Given the description of an element on the screen output the (x, y) to click on. 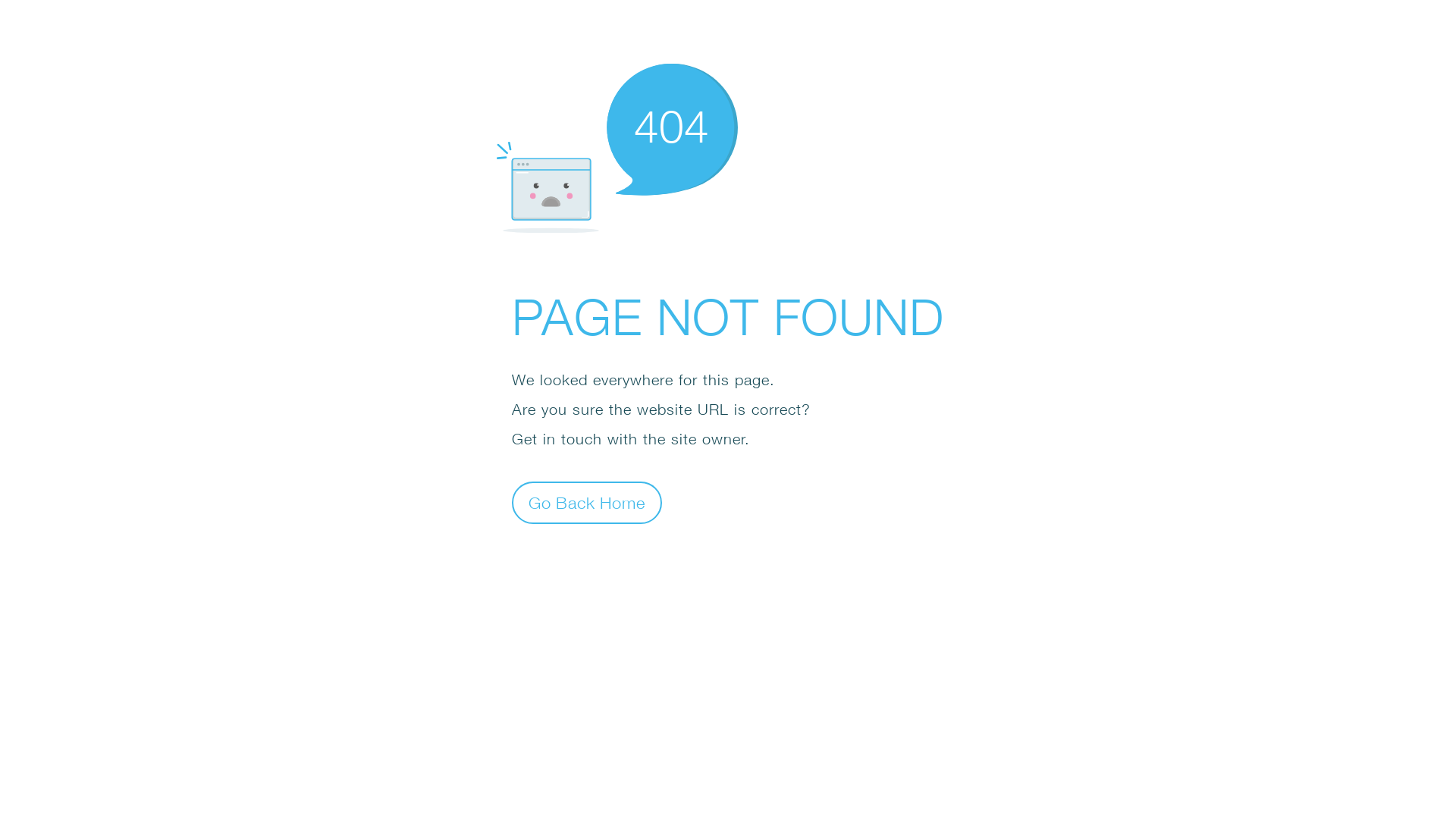
Go Back Home Element type: text (586, 502)
